Given the description of an element on the screen output the (x, y) to click on. 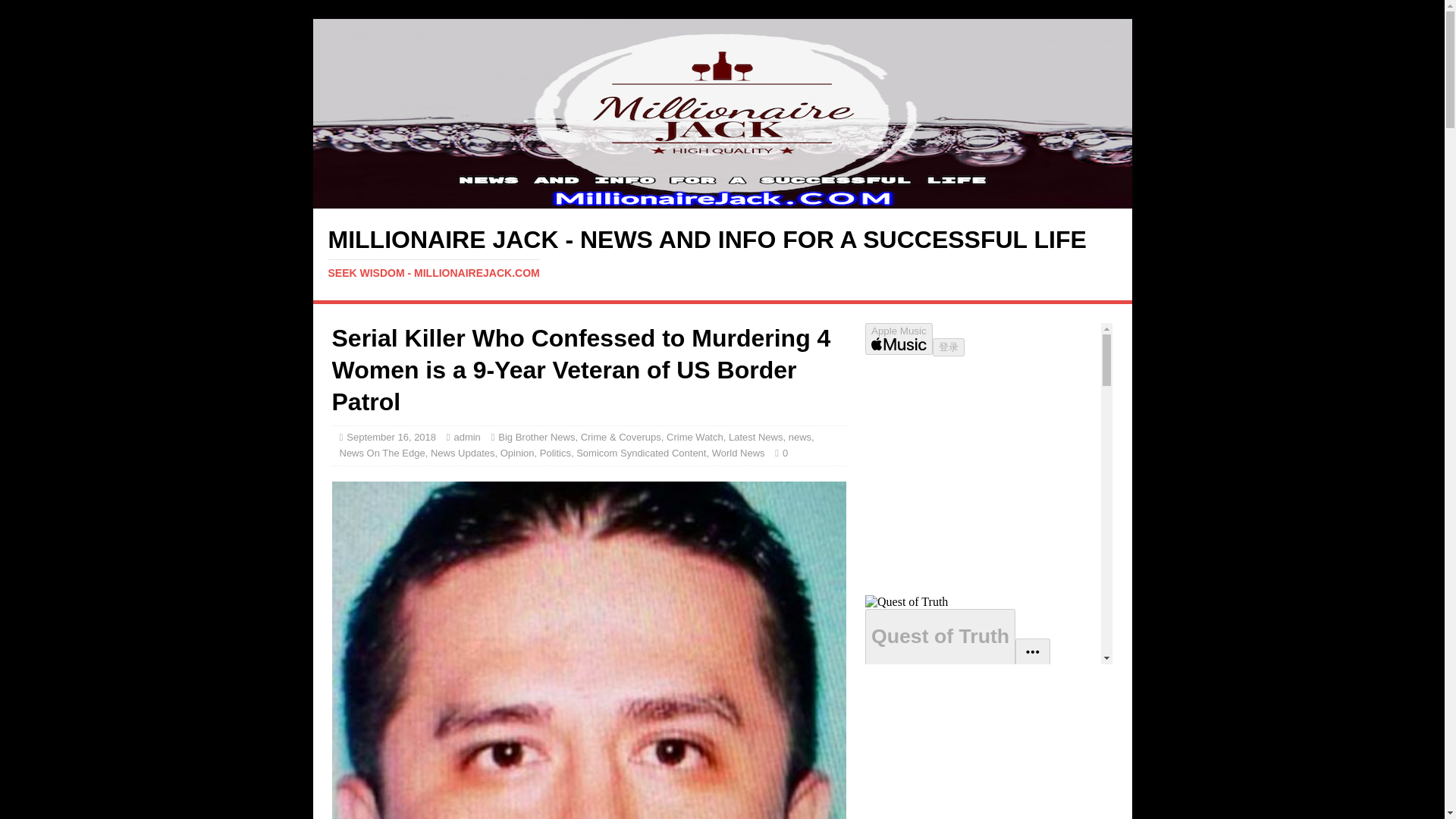
World News (738, 452)
Millionaire Jack - News And Info For A Successful Life (721, 253)
Big Brother News (536, 437)
news (799, 437)
admin (466, 437)
Politics (555, 452)
Latest News (756, 437)
Crime Watch (694, 437)
Somicom Syndicated Content (641, 452)
